Given the description of an element on the screen output the (x, y) to click on. 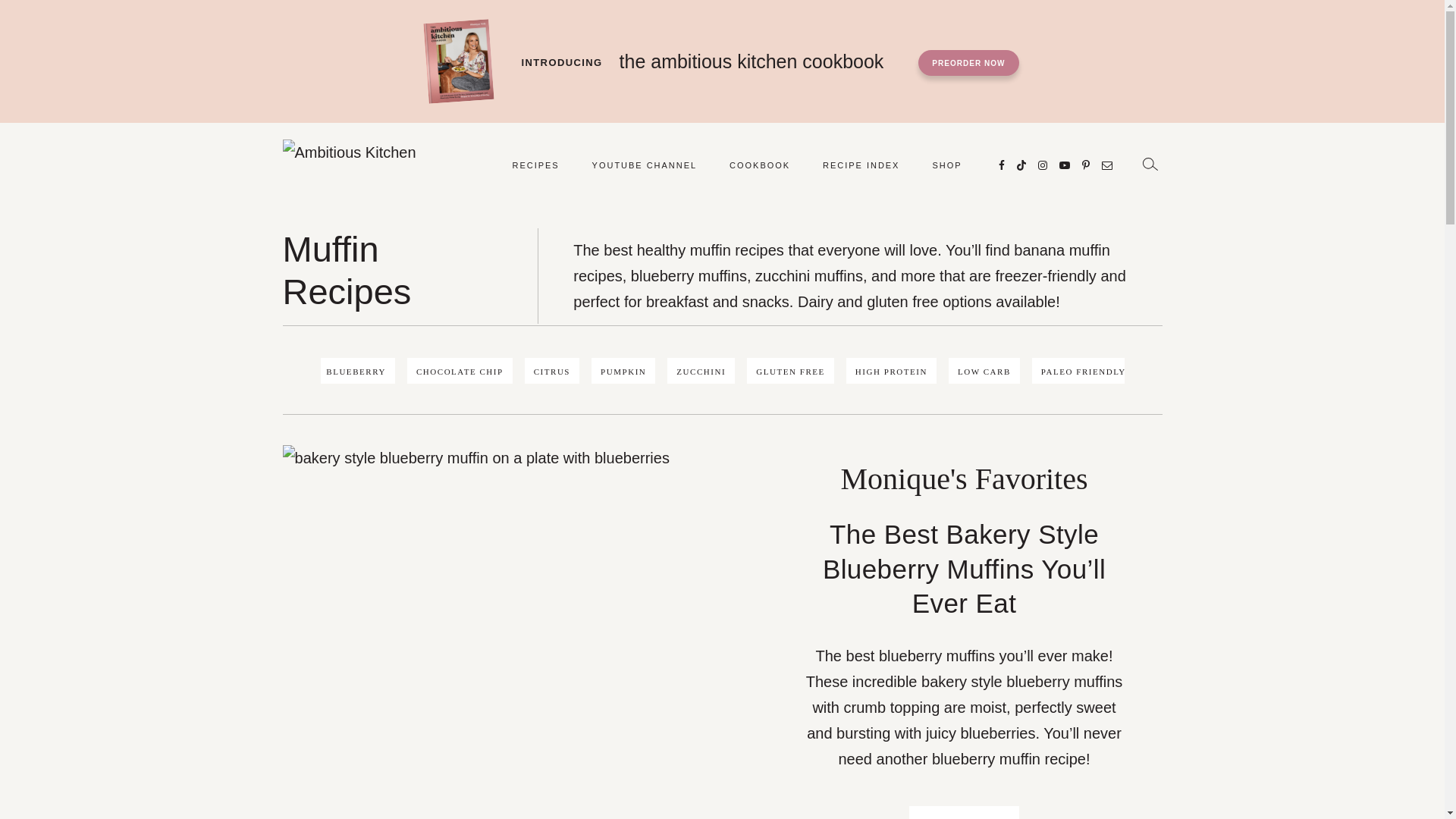
Subscribe! (1063, 164)
Recipes (535, 165)
Email us! (1106, 164)
